Given the description of an element on the screen output the (x, y) to click on. 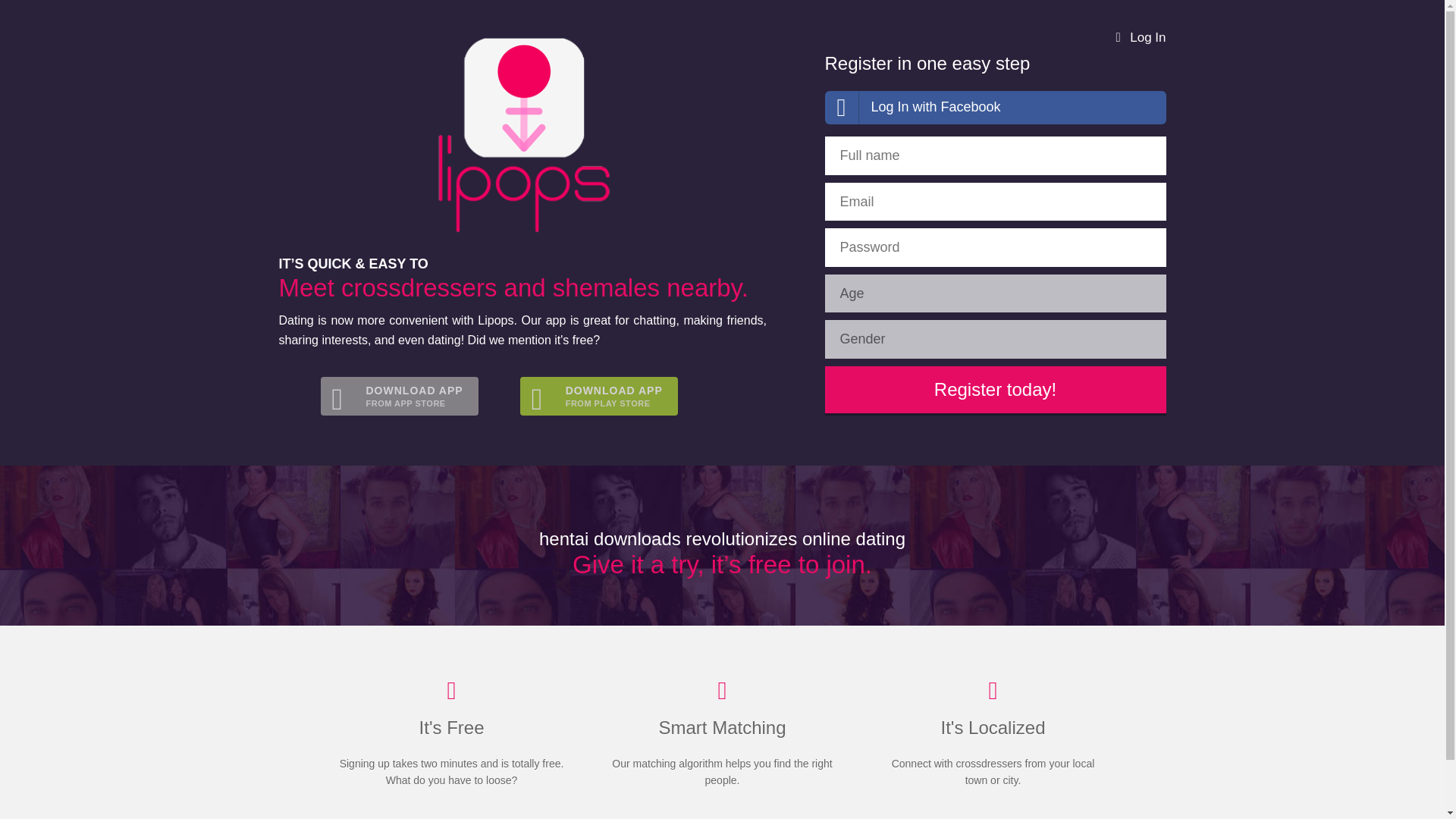
Register today! (995, 389)
Log In with Facebook (598, 395)
Log In (398, 395)
